Given the description of an element on the screen output the (x, y) to click on. 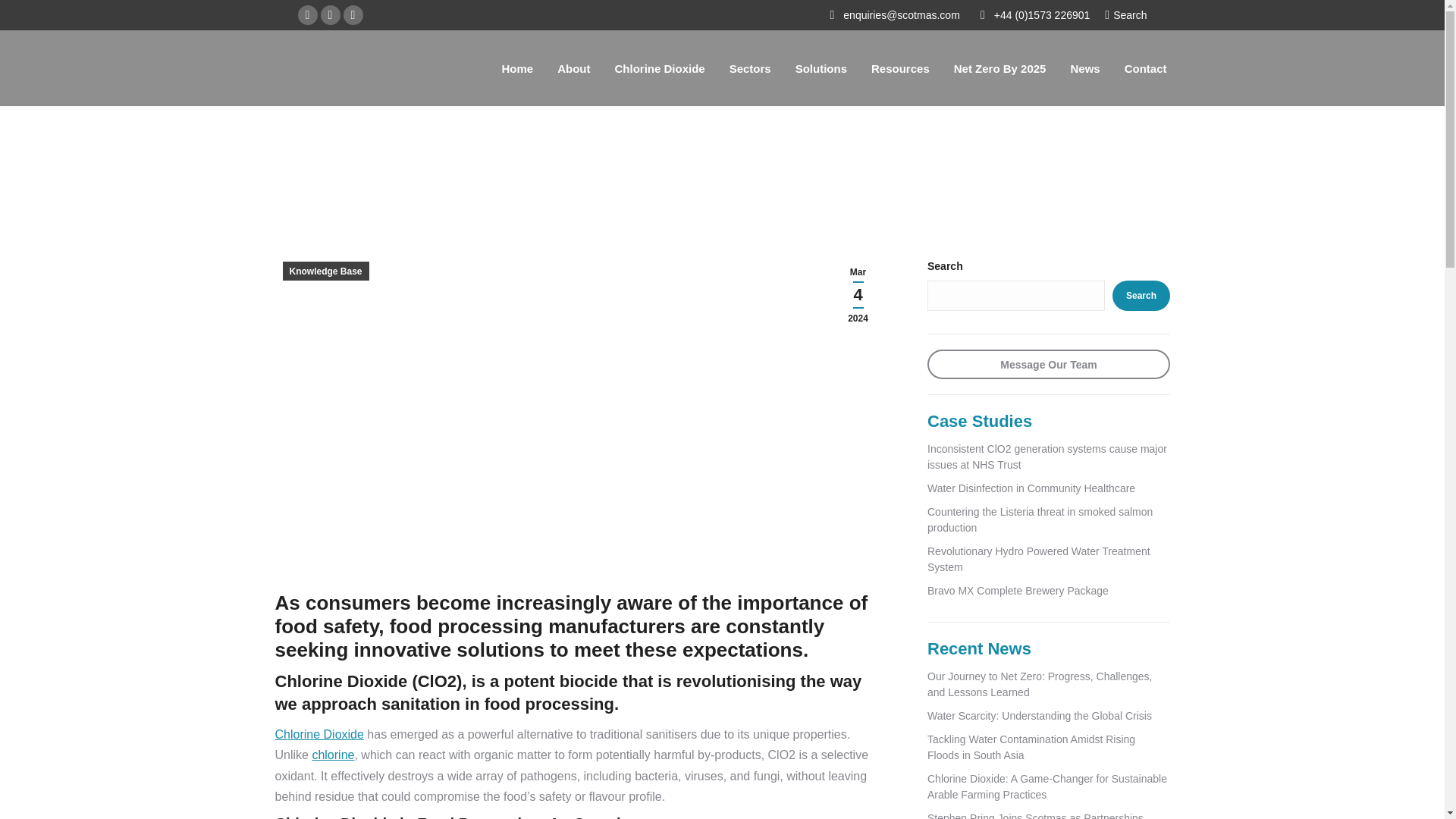
YouTube page opens in new window (352, 14)
Home (516, 67)
Sectors (750, 67)
About (573, 67)
Linkedin page opens in new window (329, 14)
X page opens in new window (307, 14)
Solutions (821, 67)
YouTube page opens in new window (352, 14)
Linkedin page opens in new window (329, 14)
Chlorine Dioxide (659, 67)
